Given the description of an element on the screen output the (x, y) to click on. 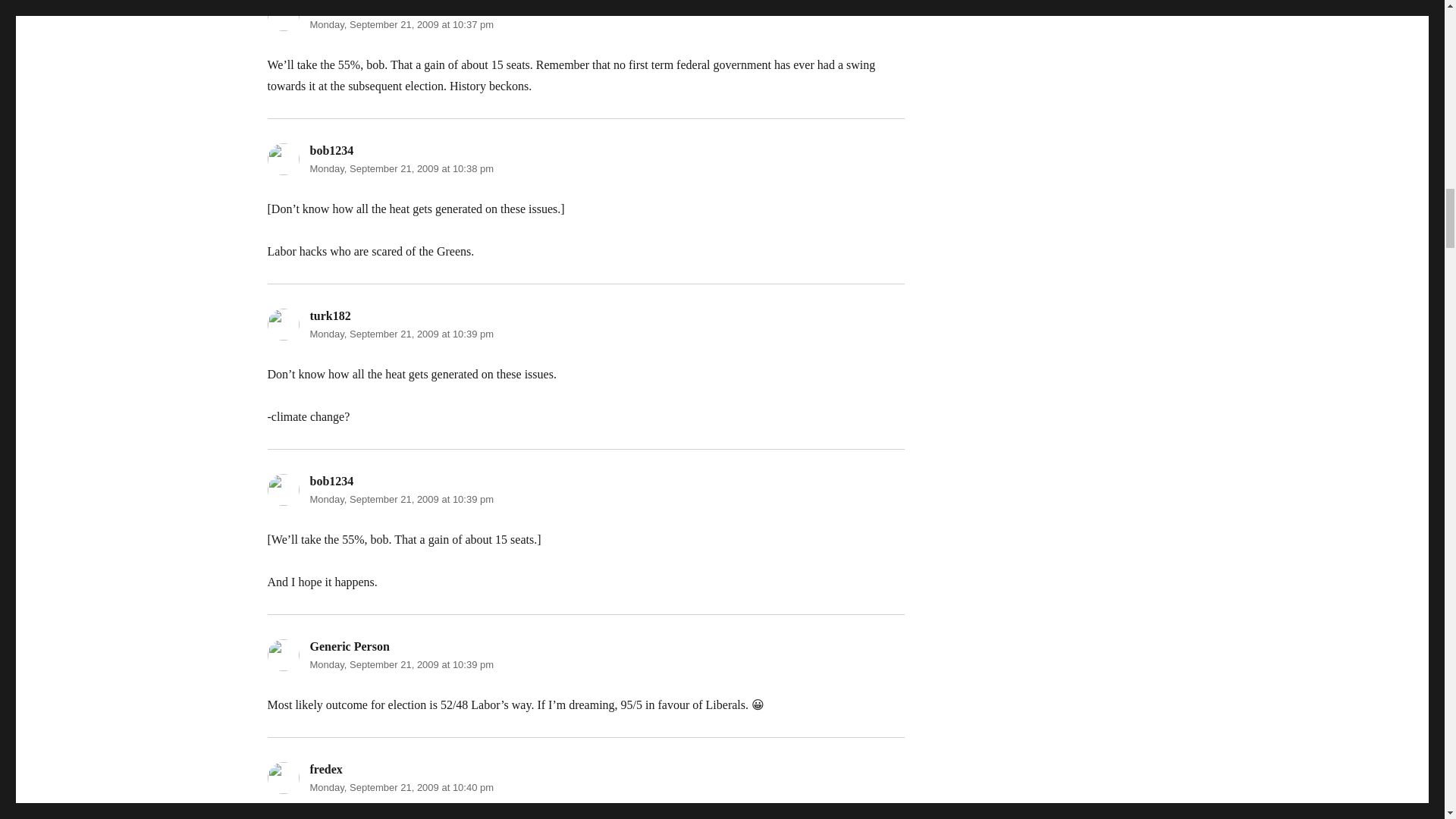
Psephos (329, 6)
Monday, September 21, 2009 at 10:40 pm (400, 787)
Monday, September 21, 2009 at 10:38 pm (400, 168)
Monday, September 21, 2009 at 10:39 pm (400, 499)
Monday, September 21, 2009 at 10:39 pm (400, 333)
Monday, September 21, 2009 at 10:37 pm (400, 24)
Monday, September 21, 2009 at 10:39 pm (400, 664)
